Given the description of an element on the screen output the (x, y) to click on. 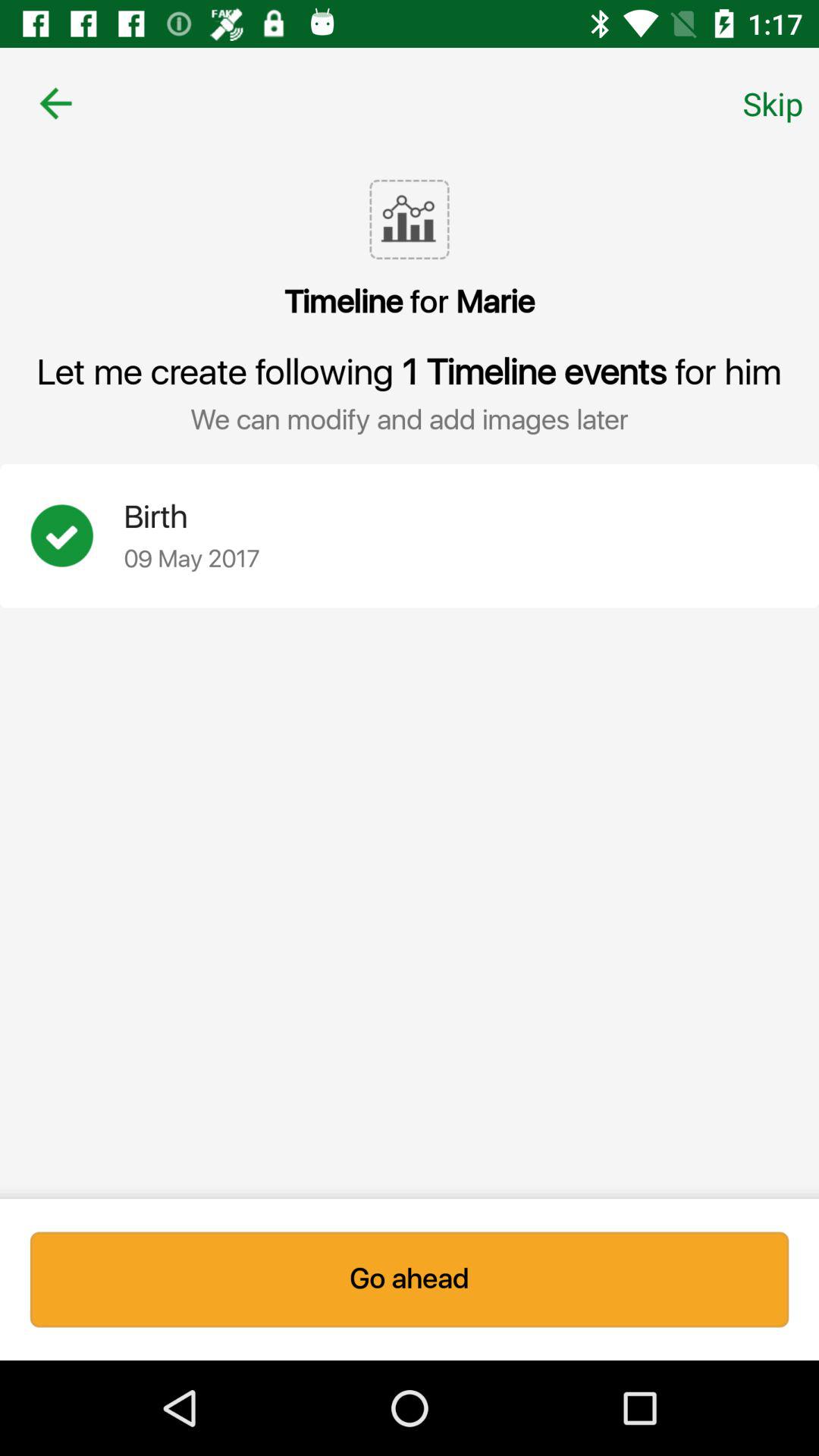
open the item above timeline for marie (772, 103)
